Given the description of an element on the screen output the (x, y) to click on. 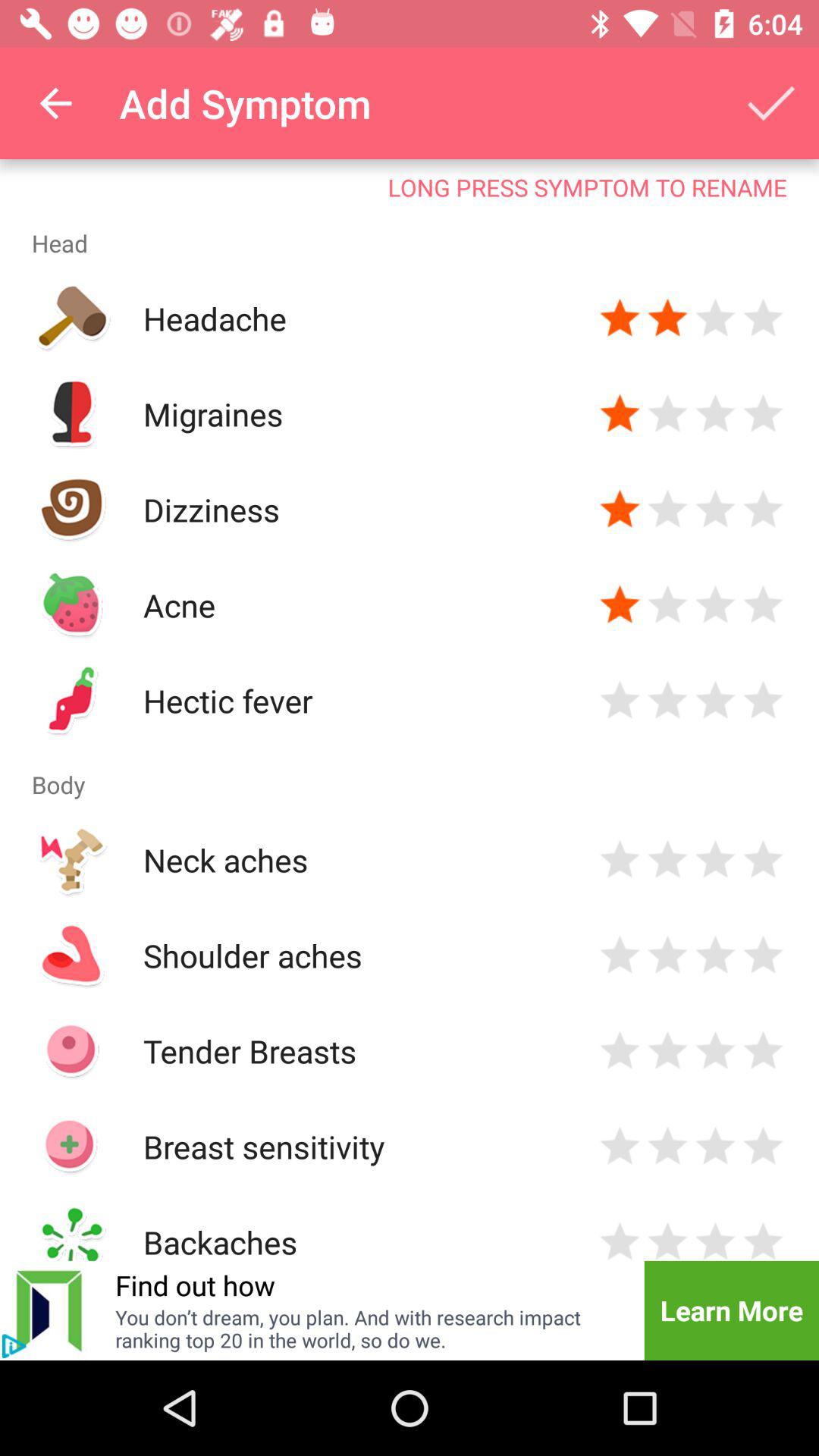
rate button (763, 700)
